Given the description of an element on the screen output the (x, y) to click on. 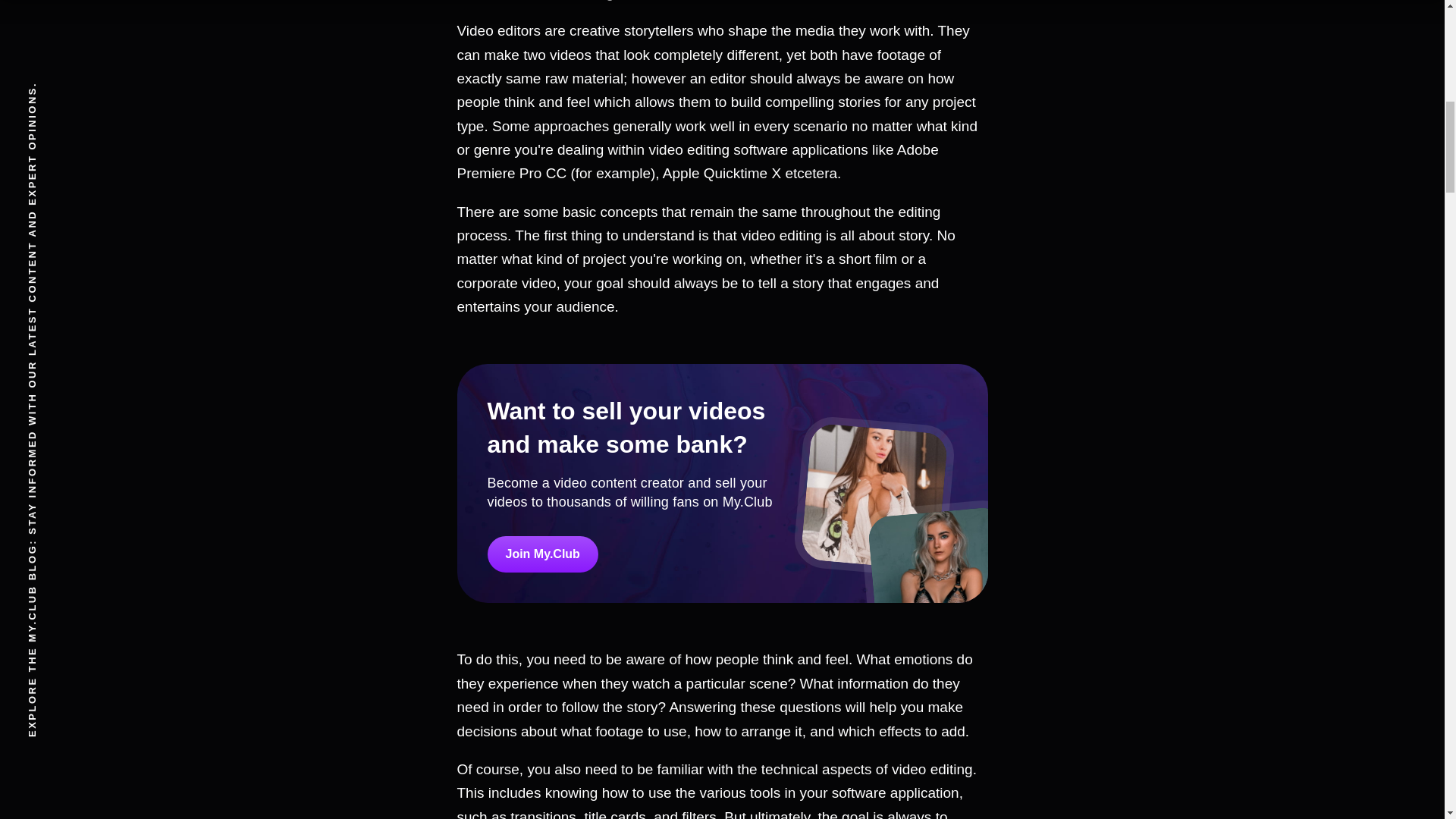
Join My.Club (541, 553)
